Given the description of an element on the screen output the (x, y) to click on. 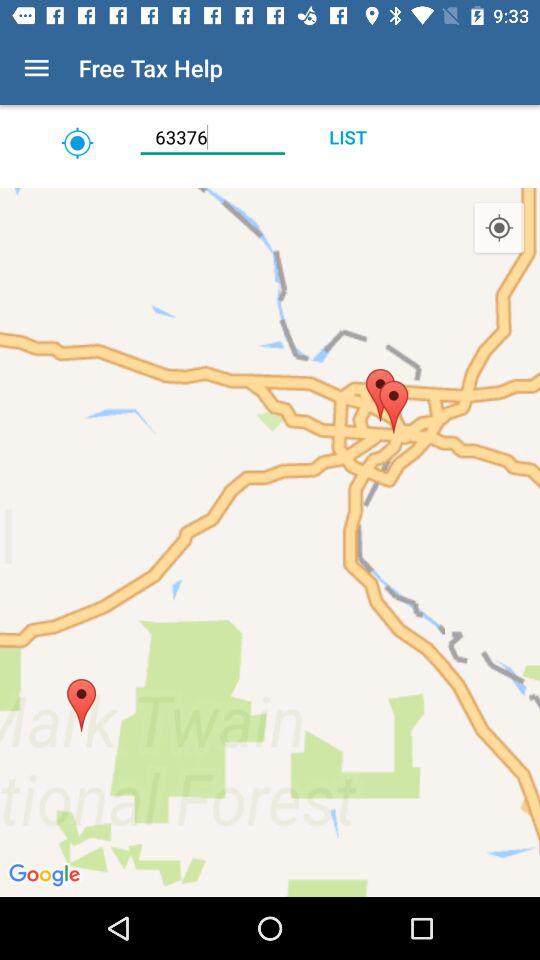
click icon at the top right corner (498, 228)
